Given the description of an element on the screen output the (x, y) to click on. 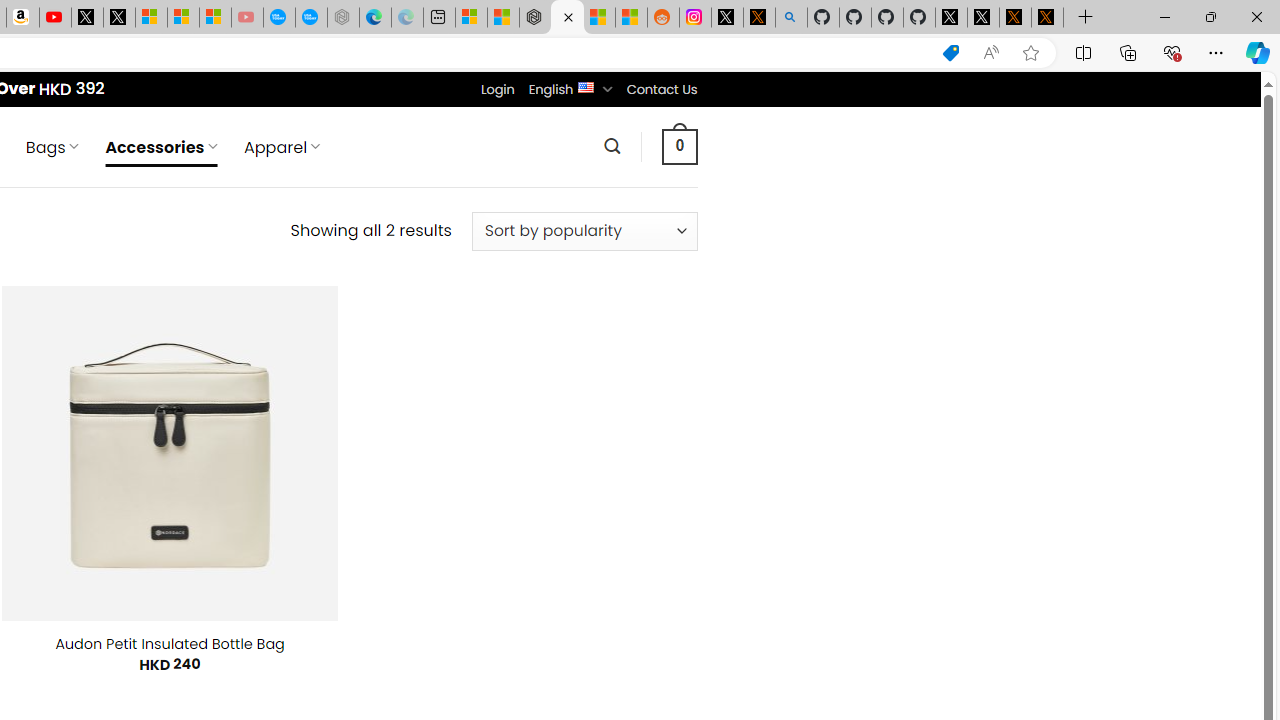
Shop order (584, 231)
Audon Petit Insulated Bottle Bag (170, 643)
Profile / X (950, 17)
